Given the description of an element on the screen output the (x, y) to click on. 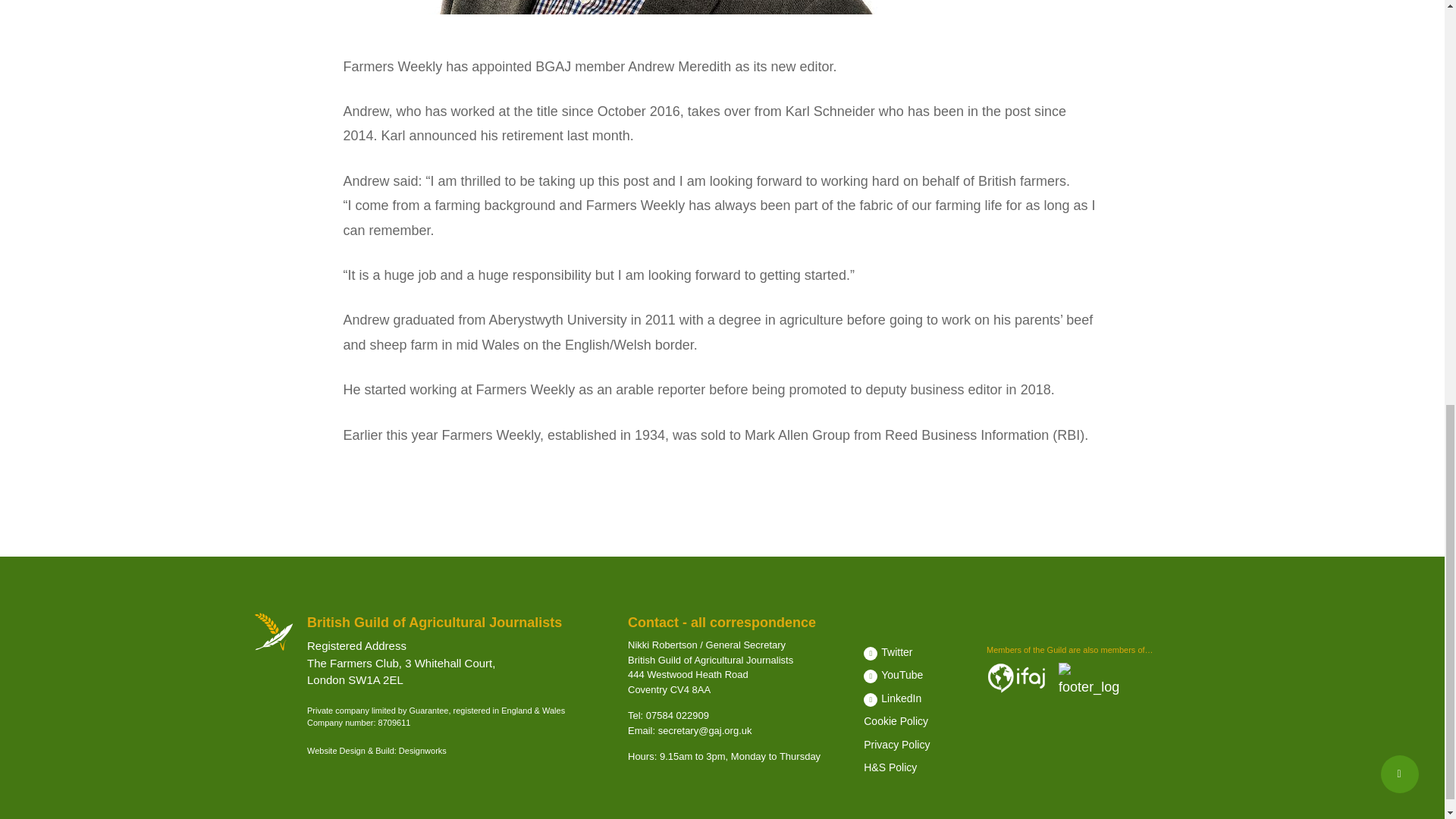
Andrew Meredith (631, 7)
Designworks (422, 750)
